Given the description of an element on the screen output the (x, y) to click on. 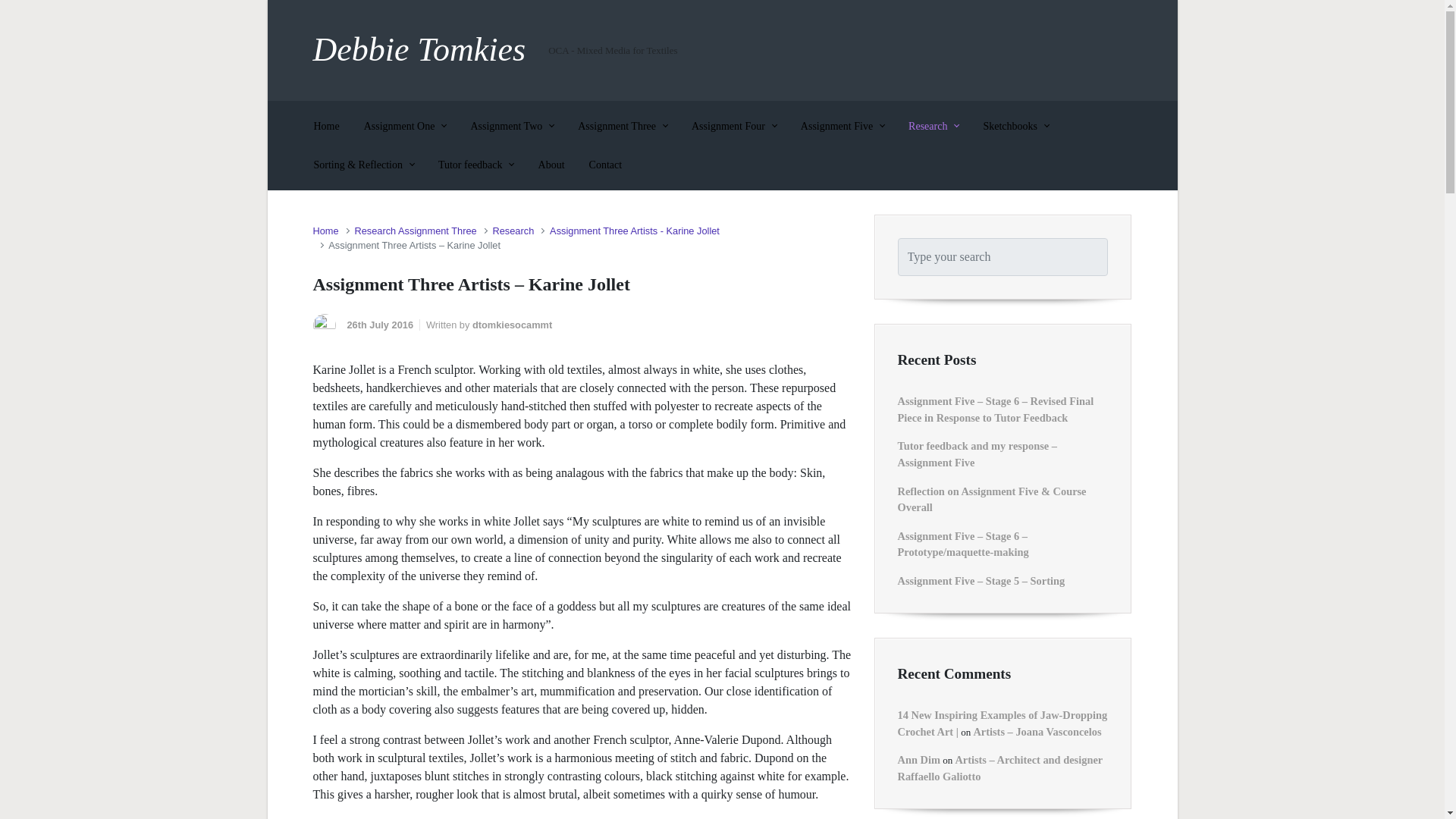
Skip to main content (17, 8)
LinkedIn (1094, 49)
Research Assignment Three (414, 230)
Instagram (1067, 49)
View all posts by dtomkiesocammt (511, 324)
RSS Feed (985, 49)
Assignment Three Artists - Karine Jollet (634, 230)
Twitter (1039, 49)
Research (513, 230)
Facebook (1013, 49)
